Given the description of an element on the screen output the (x, y) to click on. 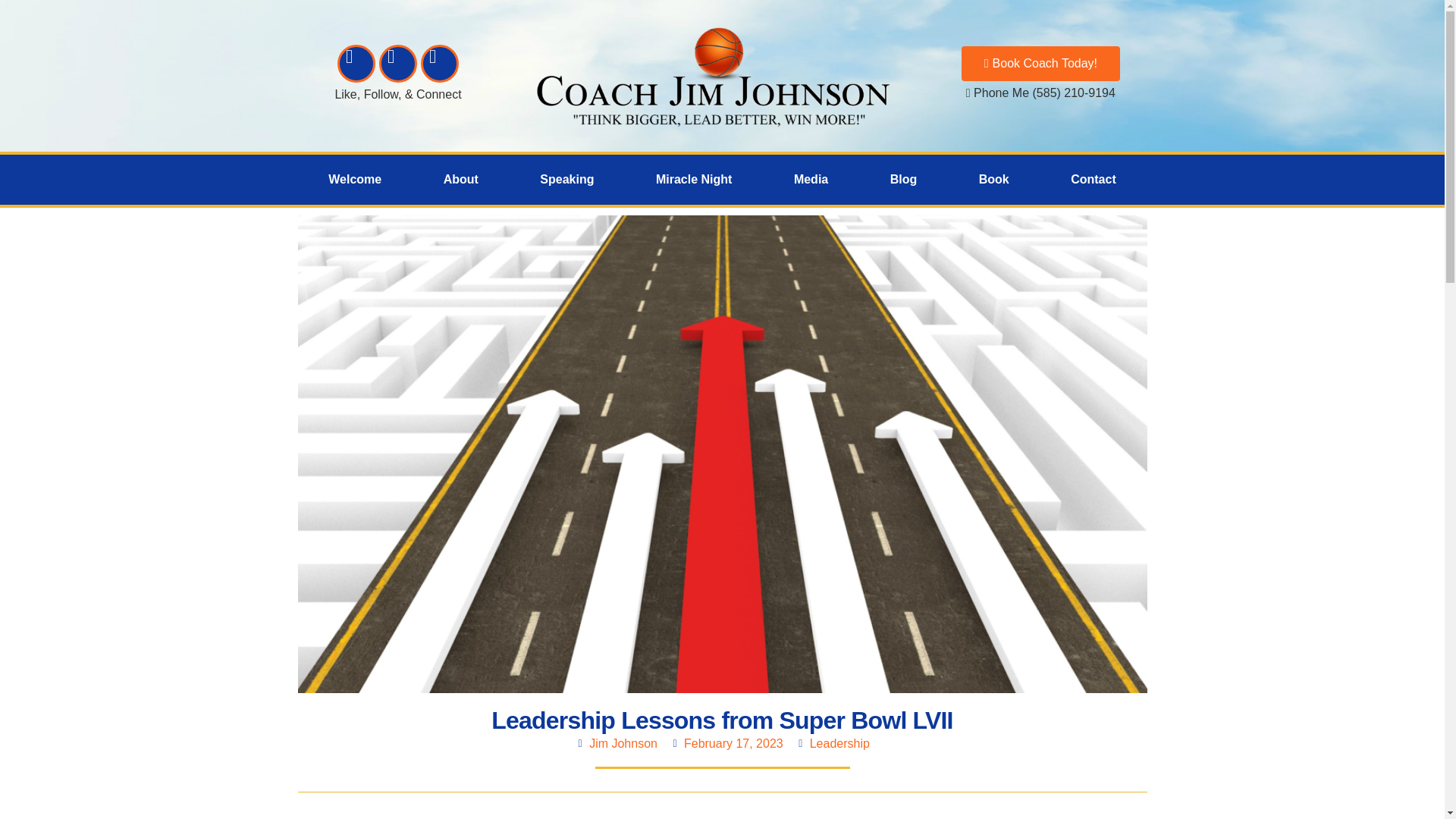
Book (993, 179)
Facebook-f (356, 63)
Book Coach Today! (1039, 63)
Jim Johnson (616, 743)
February 17, 2023 (726, 743)
Miracle Night (693, 179)
Speaking (567, 179)
Leadership (839, 743)
Linkedin-in (439, 63)
About (460, 179)
Contact (1093, 179)
Twitter (397, 63)
Welcome (354, 179)
Media (810, 179)
Blog (903, 179)
